Given the description of an element on the screen output the (x, y) to click on. 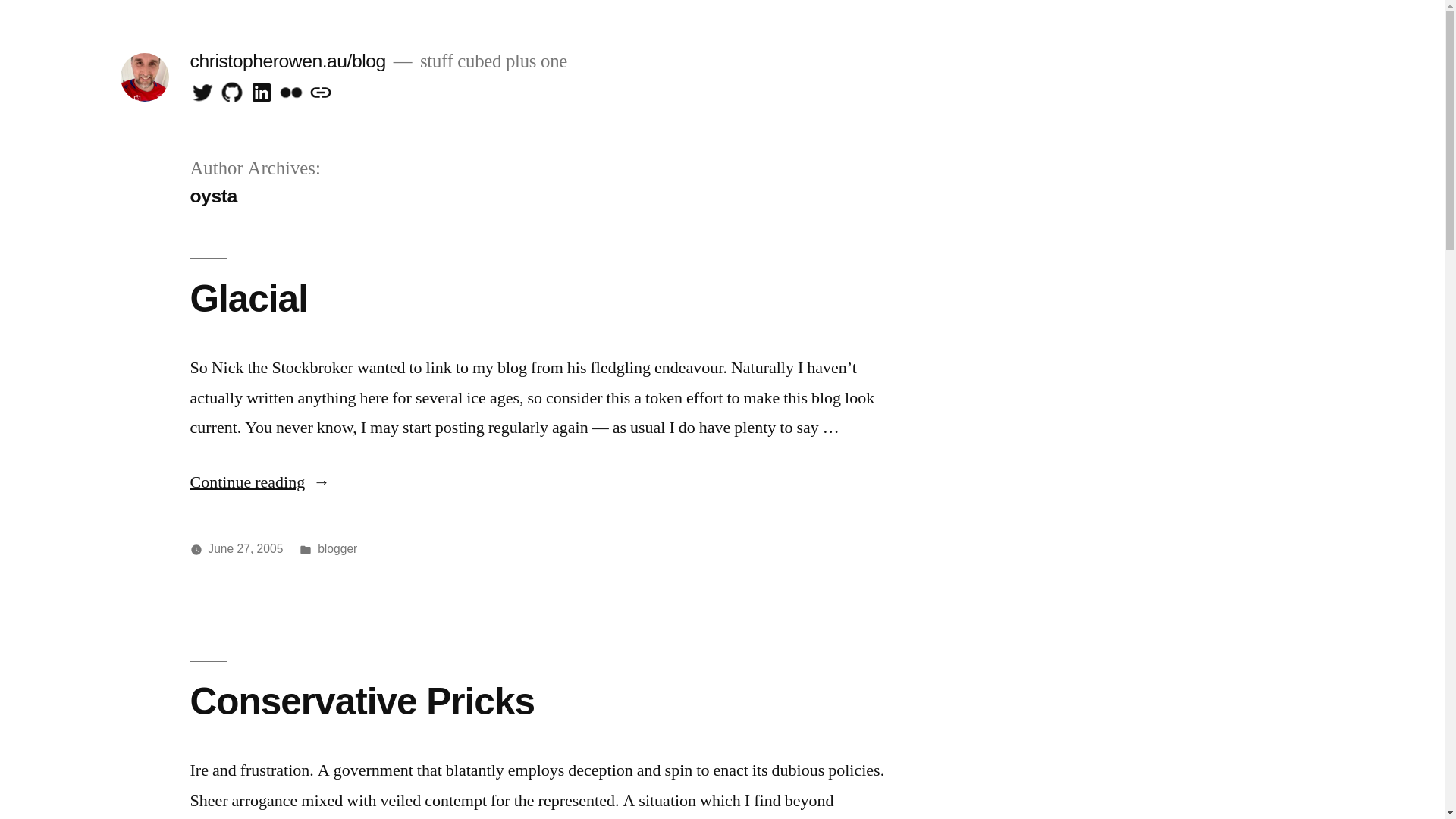
blogger Element type: text (337, 548)
linkedin Element type: text (261, 92)
flickr Element type: text (291, 92)
Twitter Element type: text (201, 92)
mastodon Element type: text (320, 92)
christopherowen.au/blog Element type: text (287, 60)
Glacial Element type: text (248, 298)
Conservative Pricks Element type: text (361, 700)
github Element type: text (231, 92)
June 27, 2005 Element type: text (244, 548)
